Given the description of an element on the screen output the (x, y) to click on. 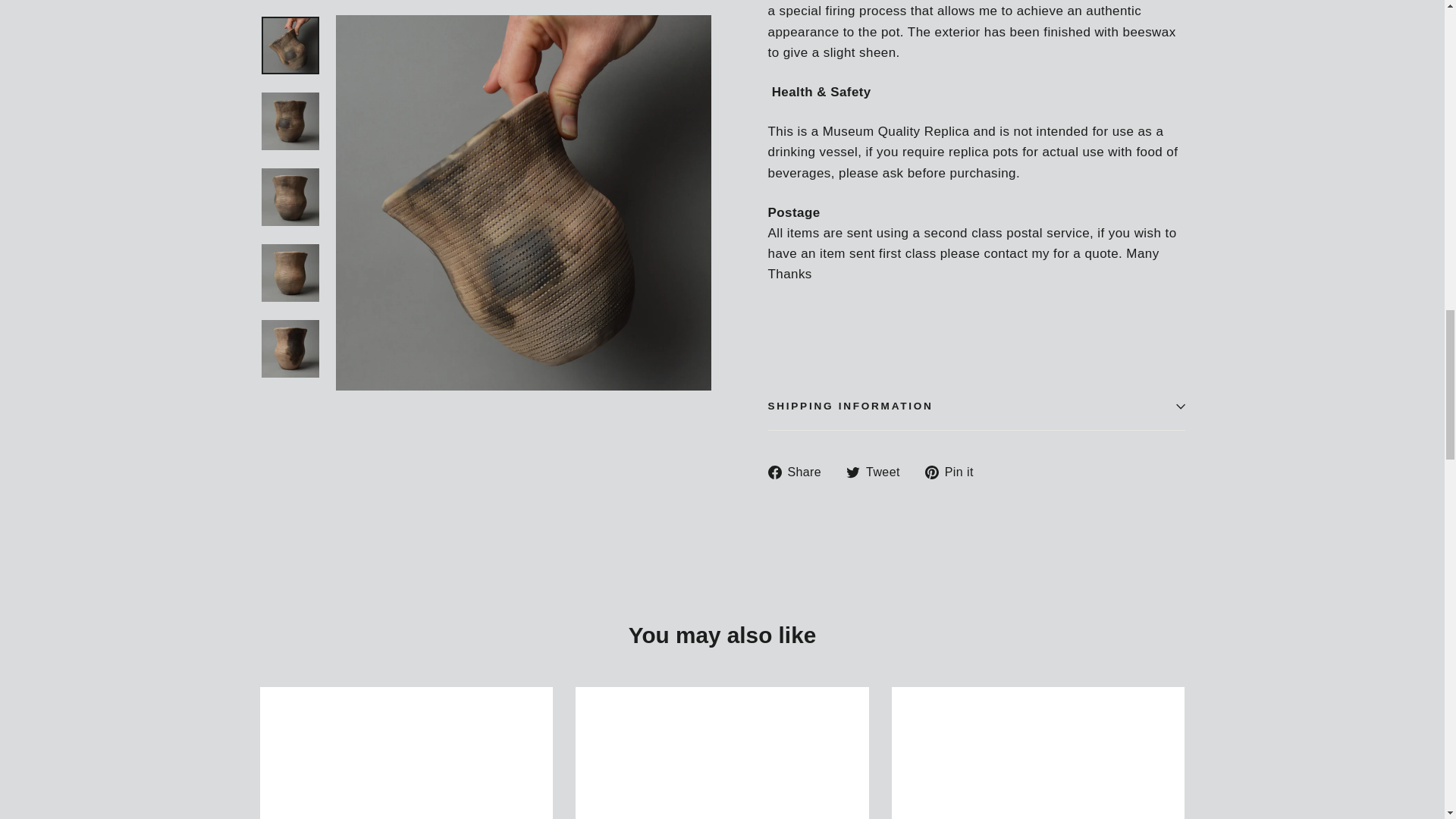
Share on Facebook (799, 471)
Pin on Pinterest (954, 471)
twitter (852, 472)
Tweet on Twitter (878, 471)
